Given the description of an element on the screen output the (x, y) to click on. 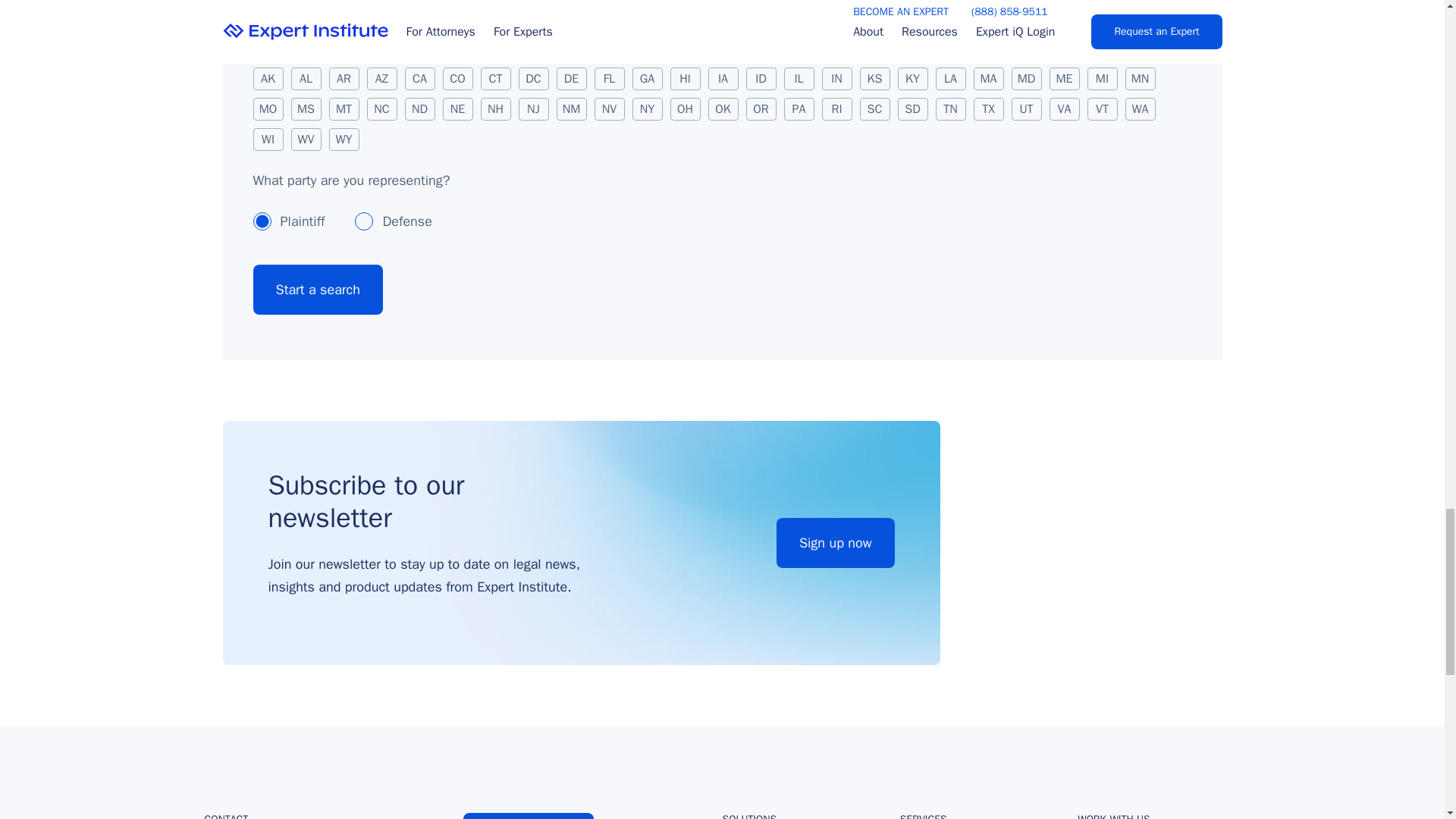
Start a search (317, 289)
Request an Expert (528, 816)
Sign up now (835, 542)
